Given the description of an element on the screen output the (x, y) to click on. 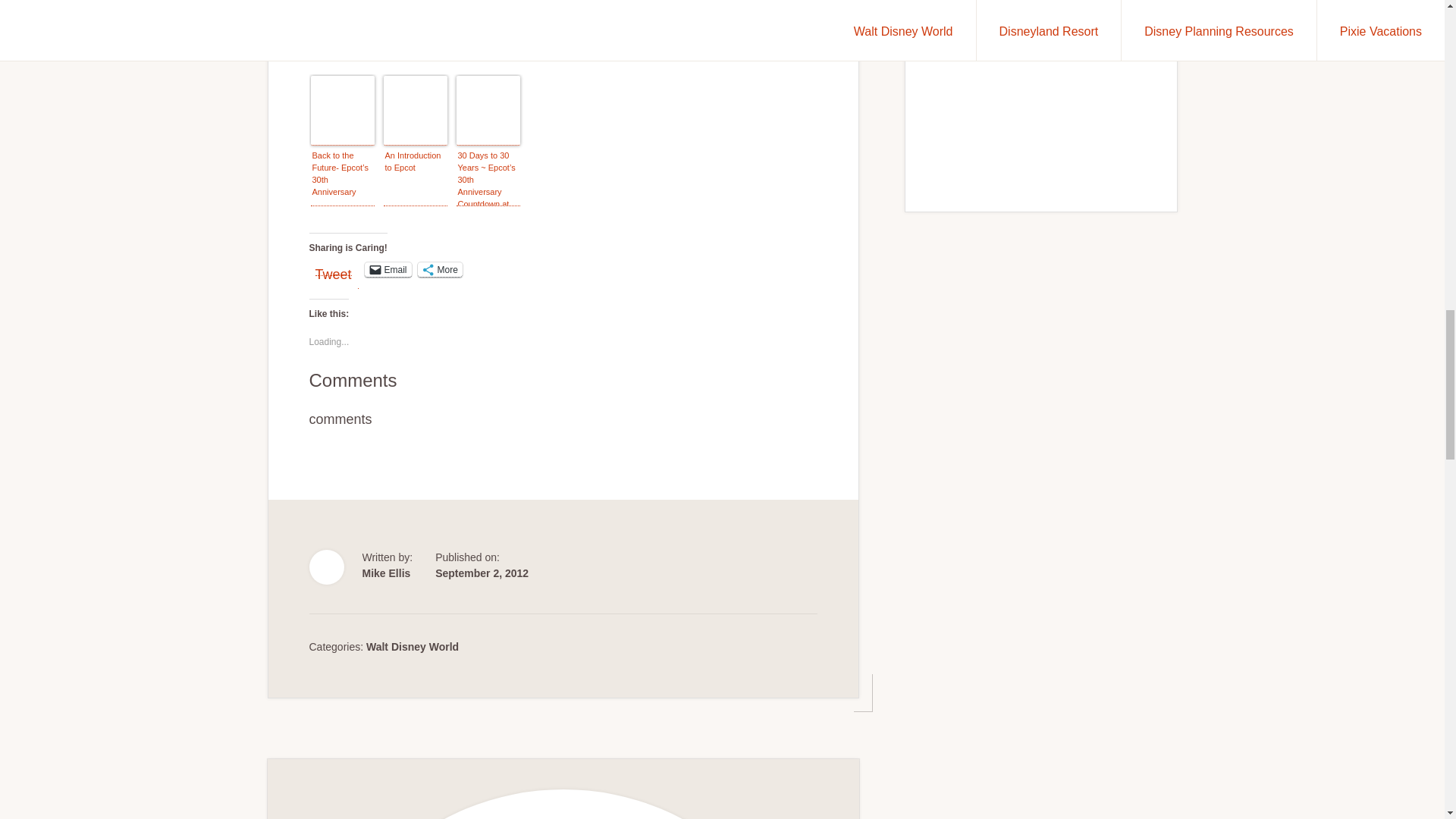
copyright protected (363, 2)
Click to email a link to a friend (388, 269)
